Given the description of an element on the screen output the (x, y) to click on. 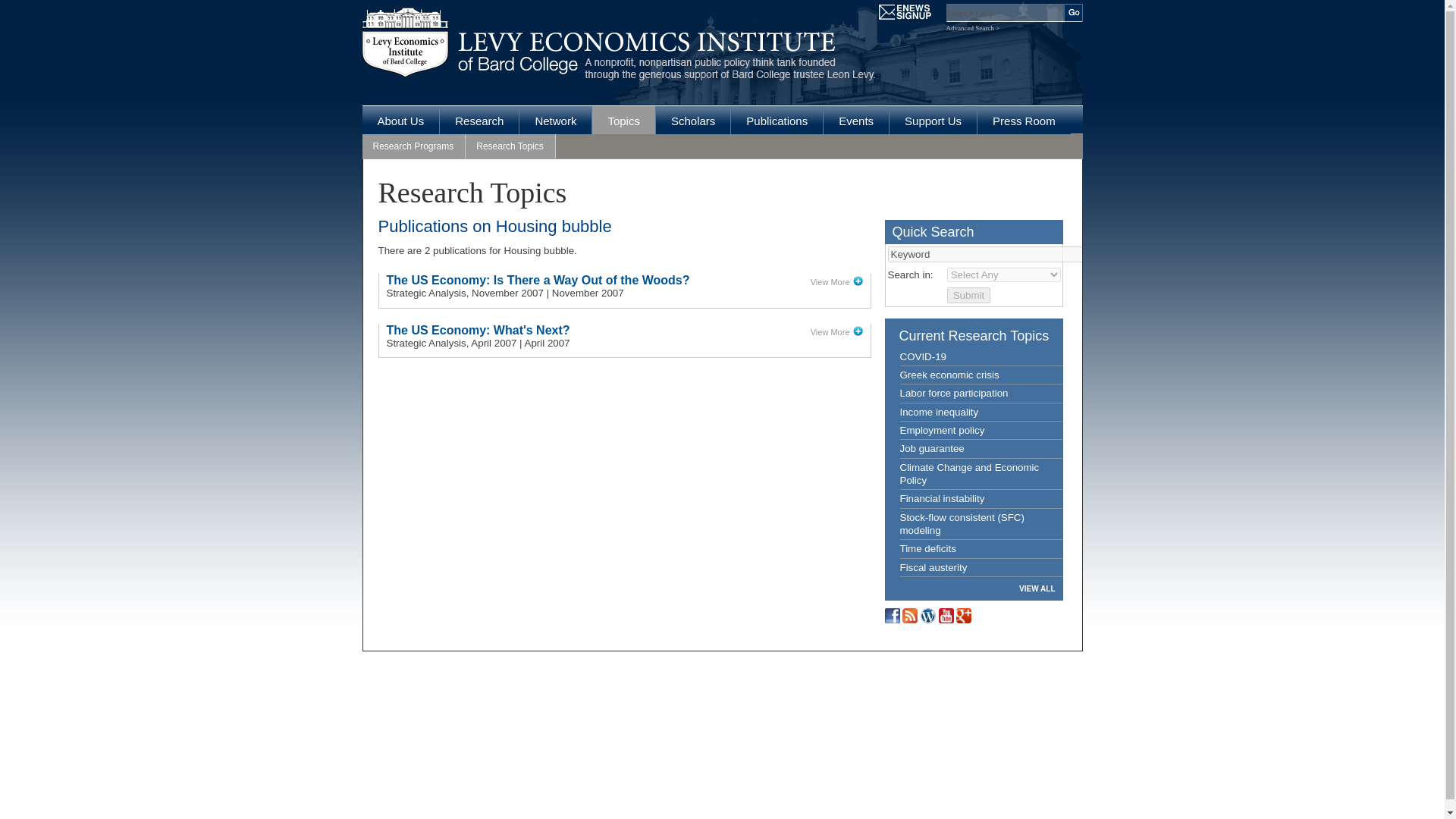
Network (555, 120)
Search Levy (1005, 13)
Topics (623, 120)
Submit (968, 295)
About Us (400, 120)
Keyword (983, 254)
Go (1073, 13)
Go (1073, 13)
Research (478, 120)
